Given the description of an element on the screen output the (x, y) to click on. 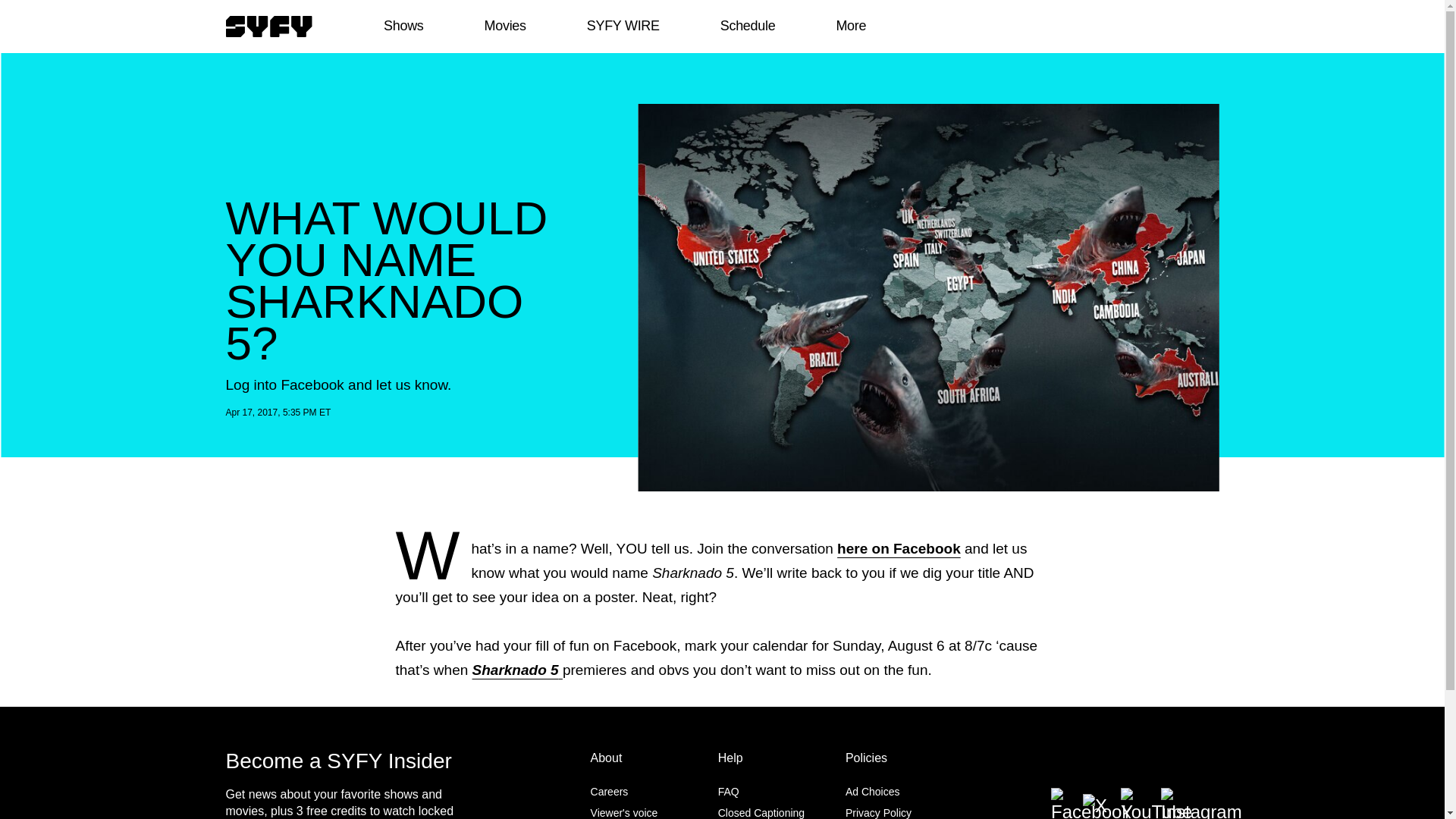
here on Facebook (898, 548)
FAQ (728, 791)
Sharknado 5 (516, 669)
Careers (609, 791)
SYFY WIRE (622, 26)
Ad Choices (872, 791)
Viewer's voice (624, 812)
Movies (504, 26)
More (850, 26)
